Given the description of an element on the screen output the (x, y) to click on. 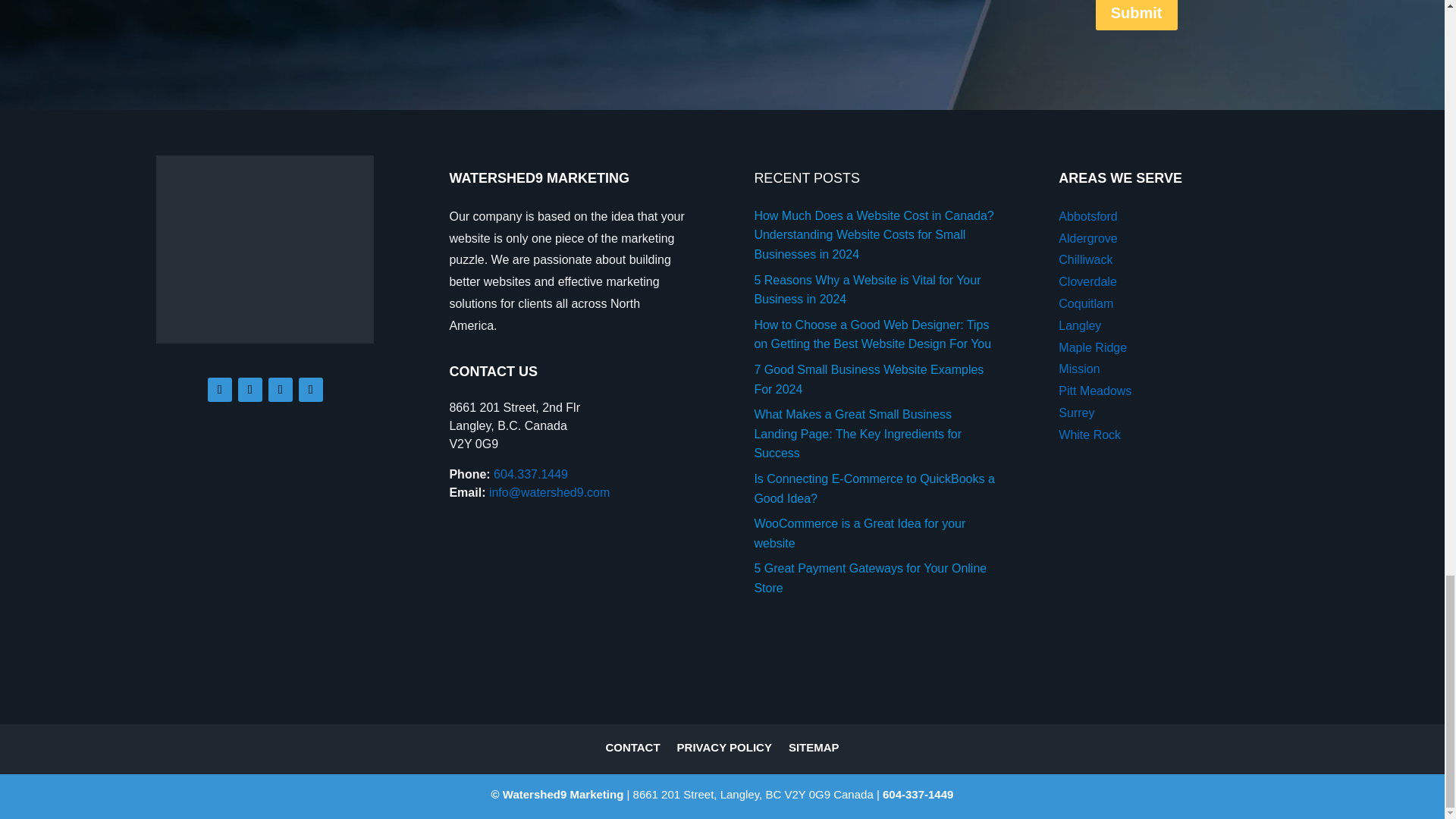
Submit (1136, 15)
604.337.1449 (530, 473)
5 Reasons Why a Website is Vital for Your Business in 2024 (866, 289)
Follow on Facebook (219, 389)
Follow on Youtube (310, 389)
Follow on LinkedIn (279, 389)
Watershed9 (263, 249)
Follow on Instagram (250, 389)
